Given the description of an element on the screen output the (x, y) to click on. 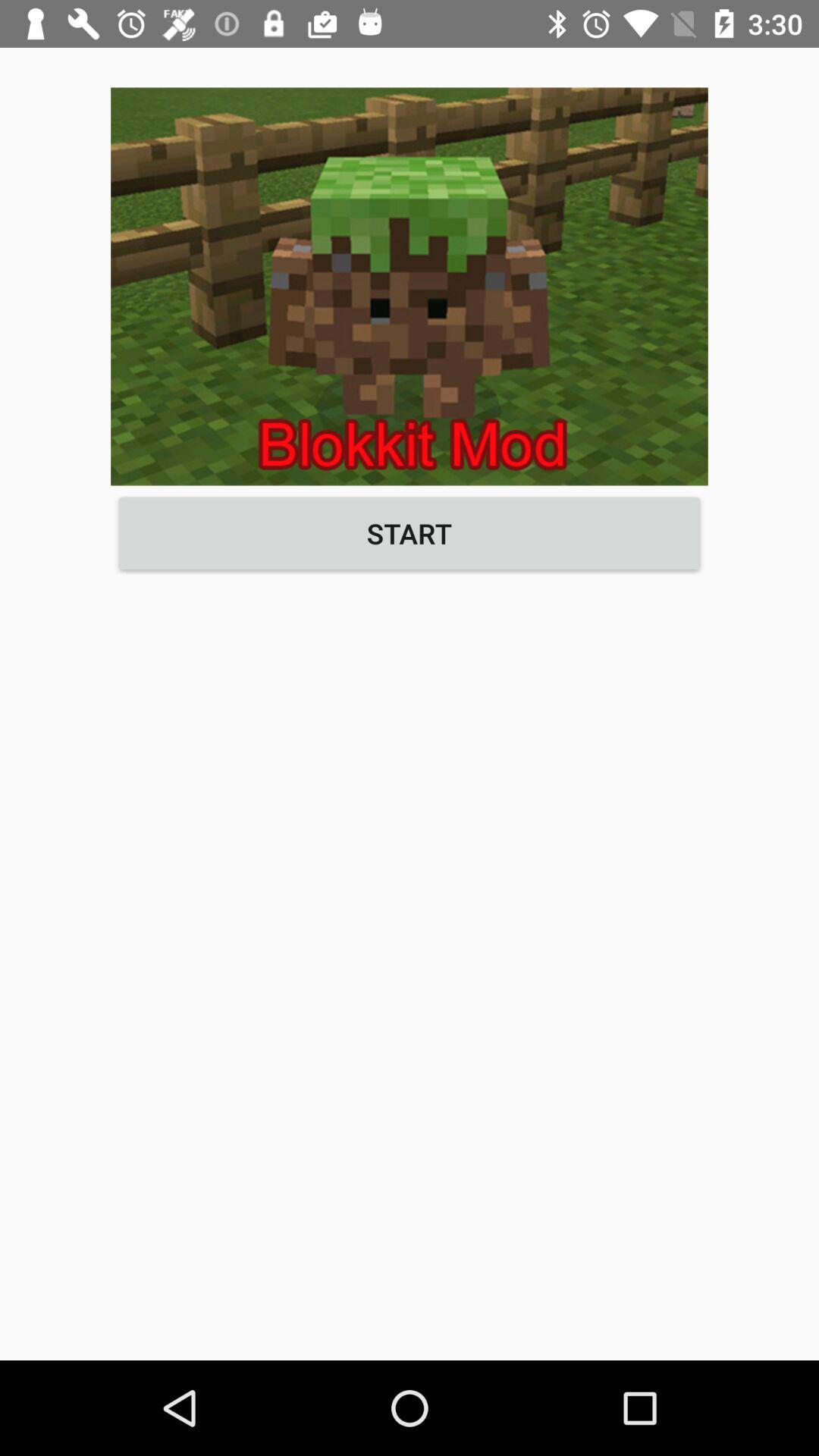
click button at the center (409, 533)
